Given the description of an element on the screen output the (x, y) to click on. 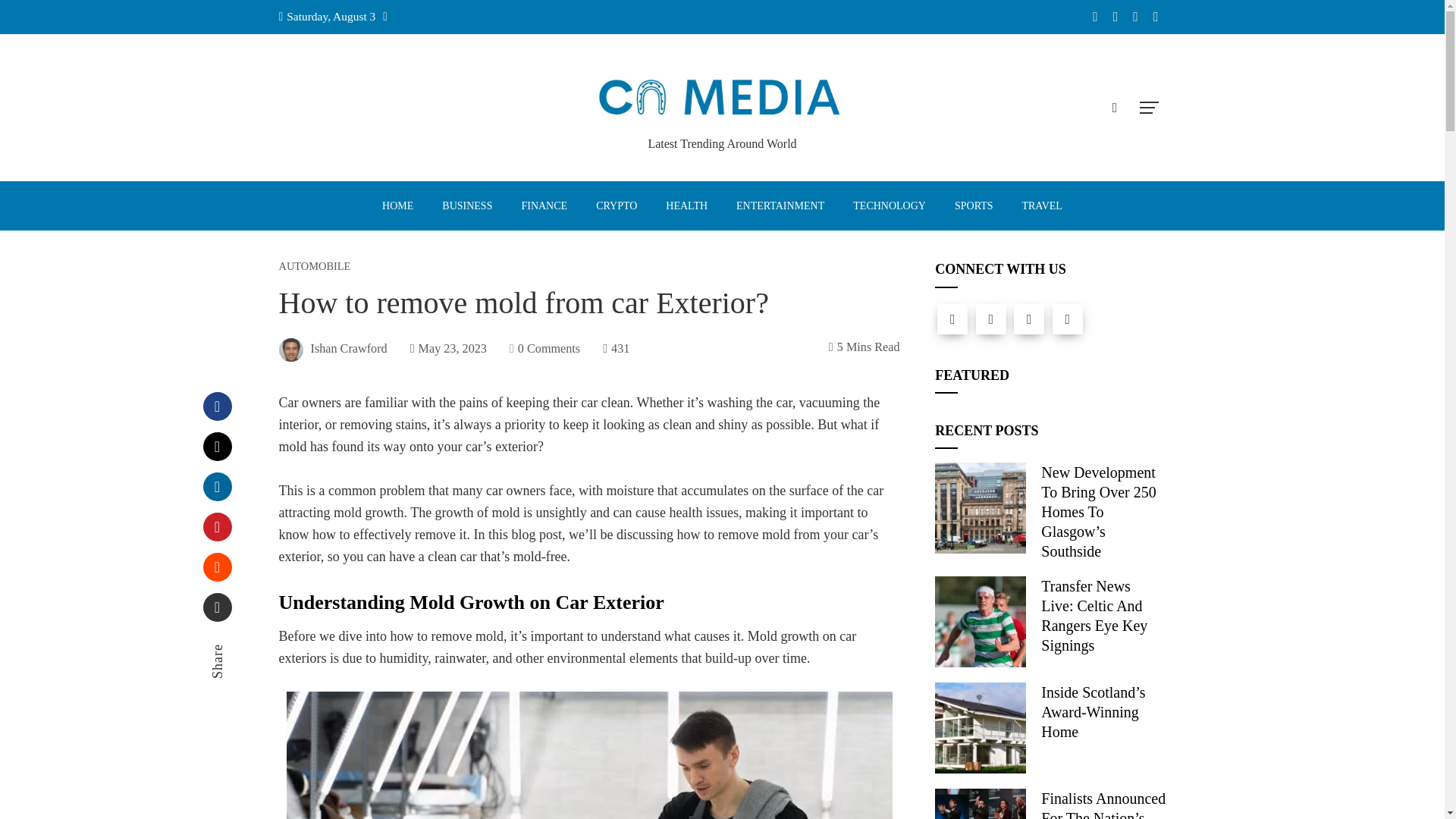
BUSINESS (466, 205)
HOME (397, 205)
CRYPTO (616, 205)
SPORTS (974, 205)
Youtube (1067, 318)
FINANCE (543, 205)
TRAVEL (1041, 205)
Facebook (217, 406)
Twitter (217, 446)
Latest Trending Around World (721, 143)
